Given the description of an element on the screen output the (x, y) to click on. 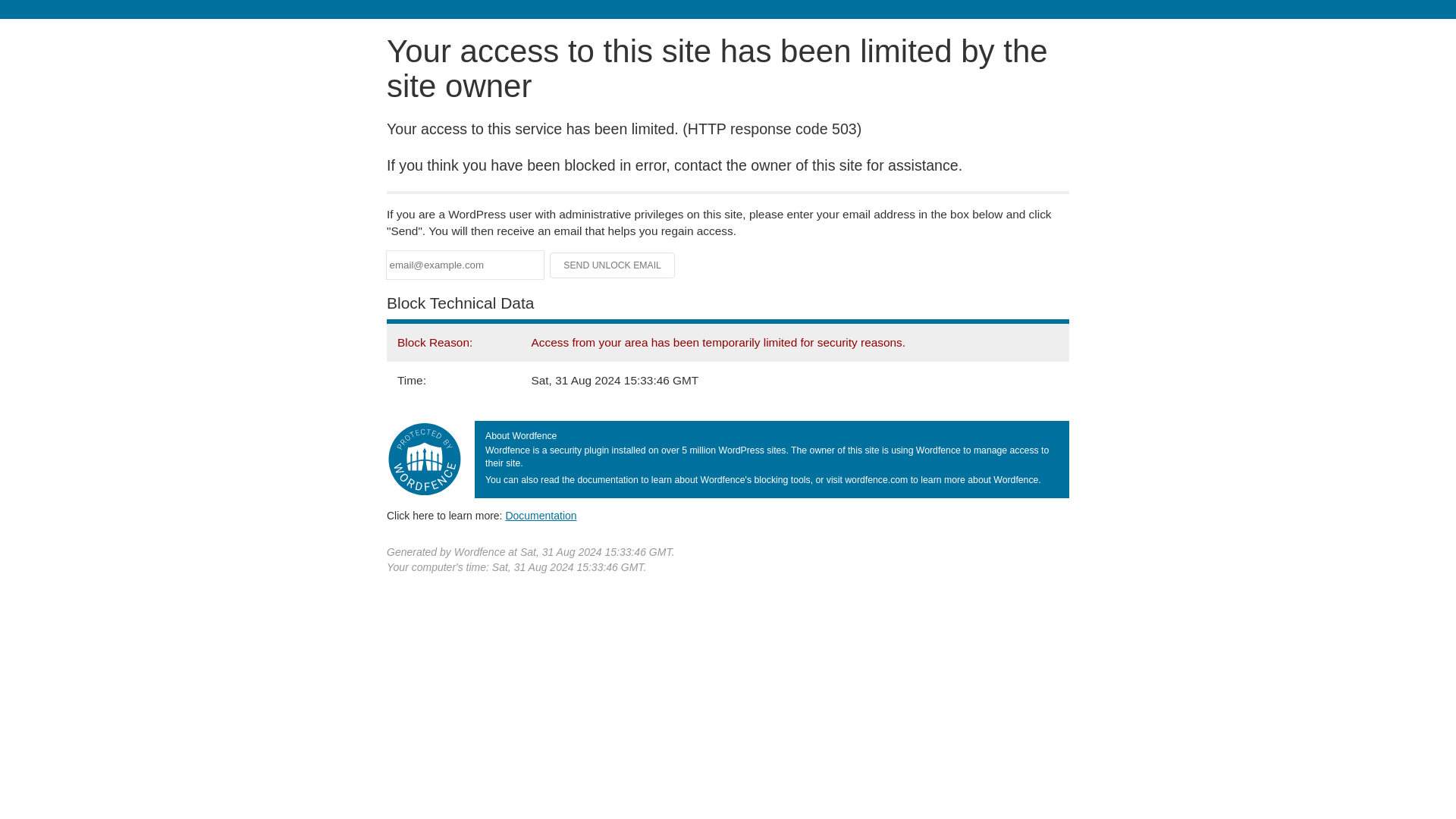
Send Unlock Email (612, 265)
Send Unlock Email (612, 265)
Documentation (540, 515)
